Given the description of an element on the screen output the (x, y) to click on. 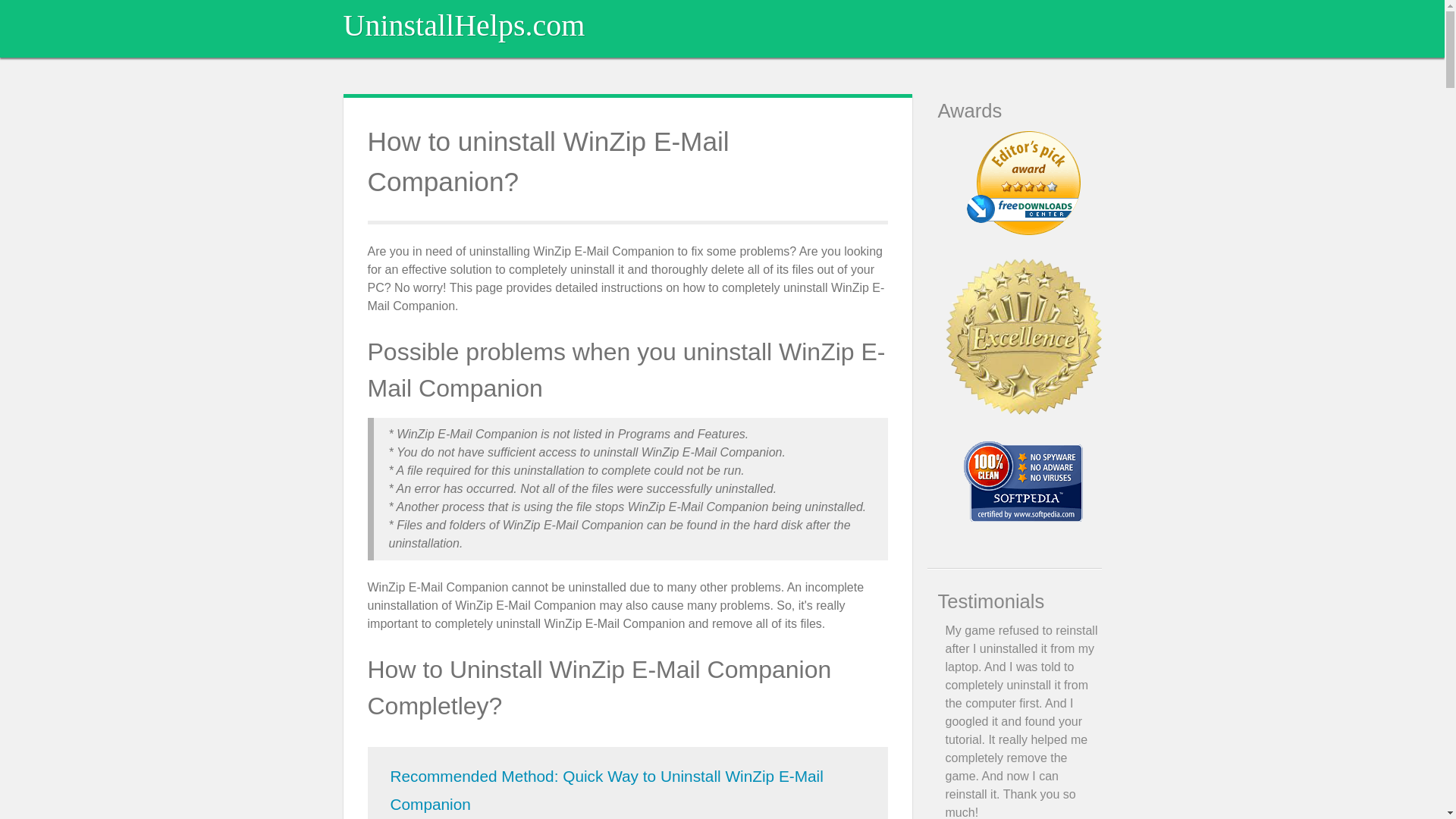
UninstallHelps.com (463, 25)
